Given the description of an element on the screen output the (x, y) to click on. 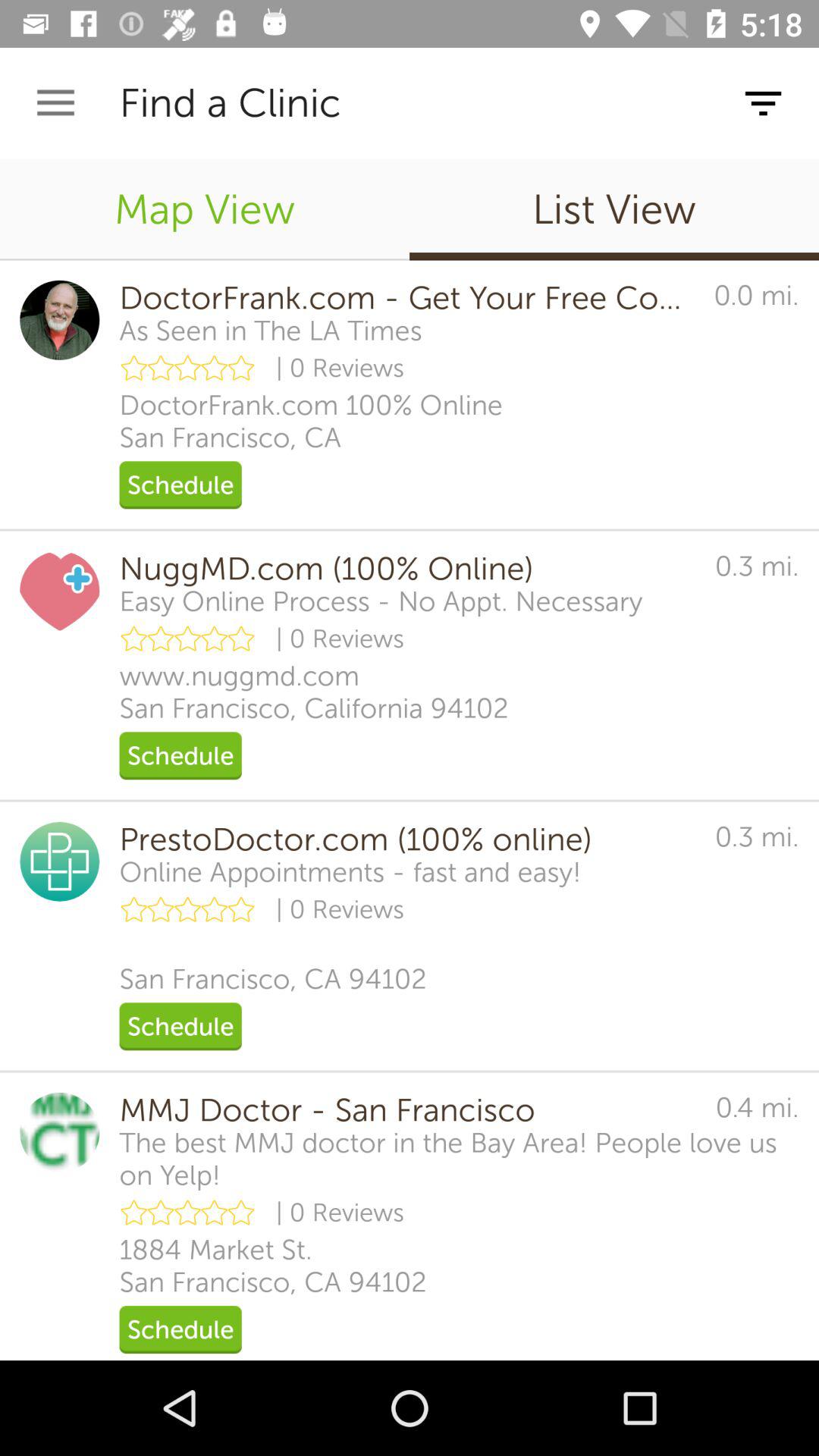
tap the online appointments fast (350, 872)
